Given the description of an element on the screen output the (x, y) to click on. 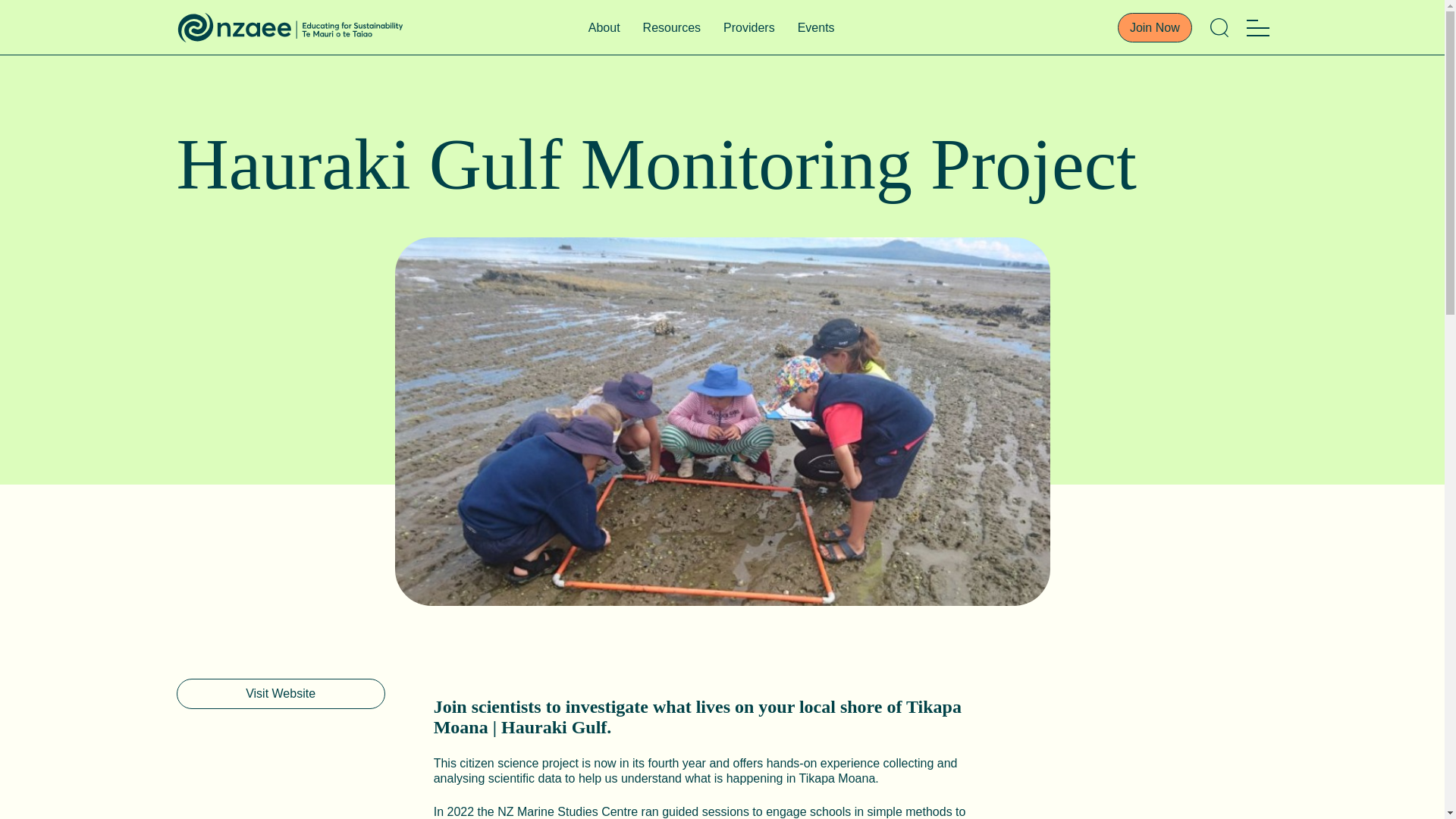
Providers (748, 27)
Visit Website (280, 693)
About (604, 27)
Resources (671, 27)
Events (815, 27)
Join Now (1155, 27)
